Given the description of an element on the screen output the (x, y) to click on. 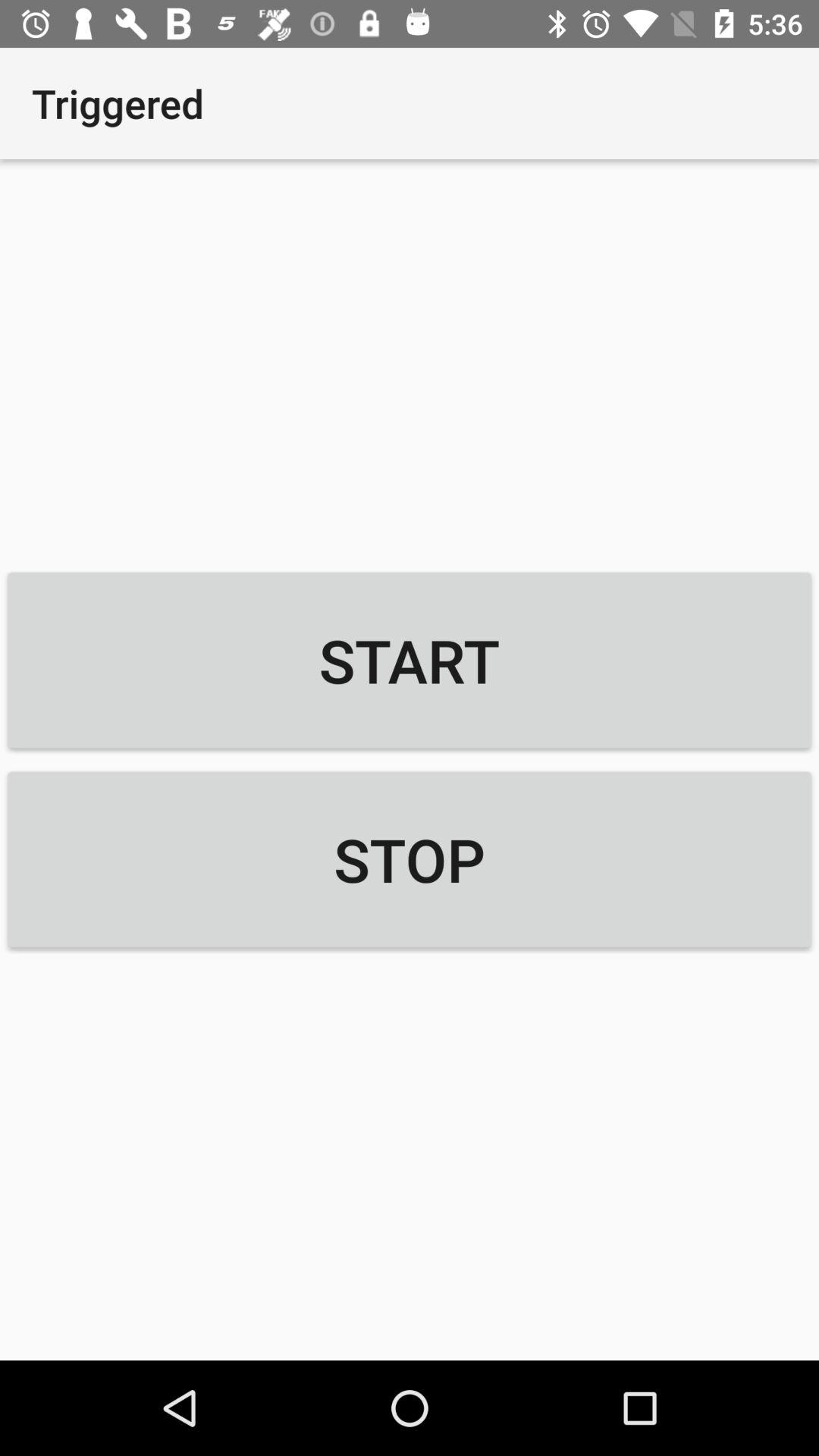
scroll to start icon (409, 659)
